Given the description of an element on the screen output the (x, y) to click on. 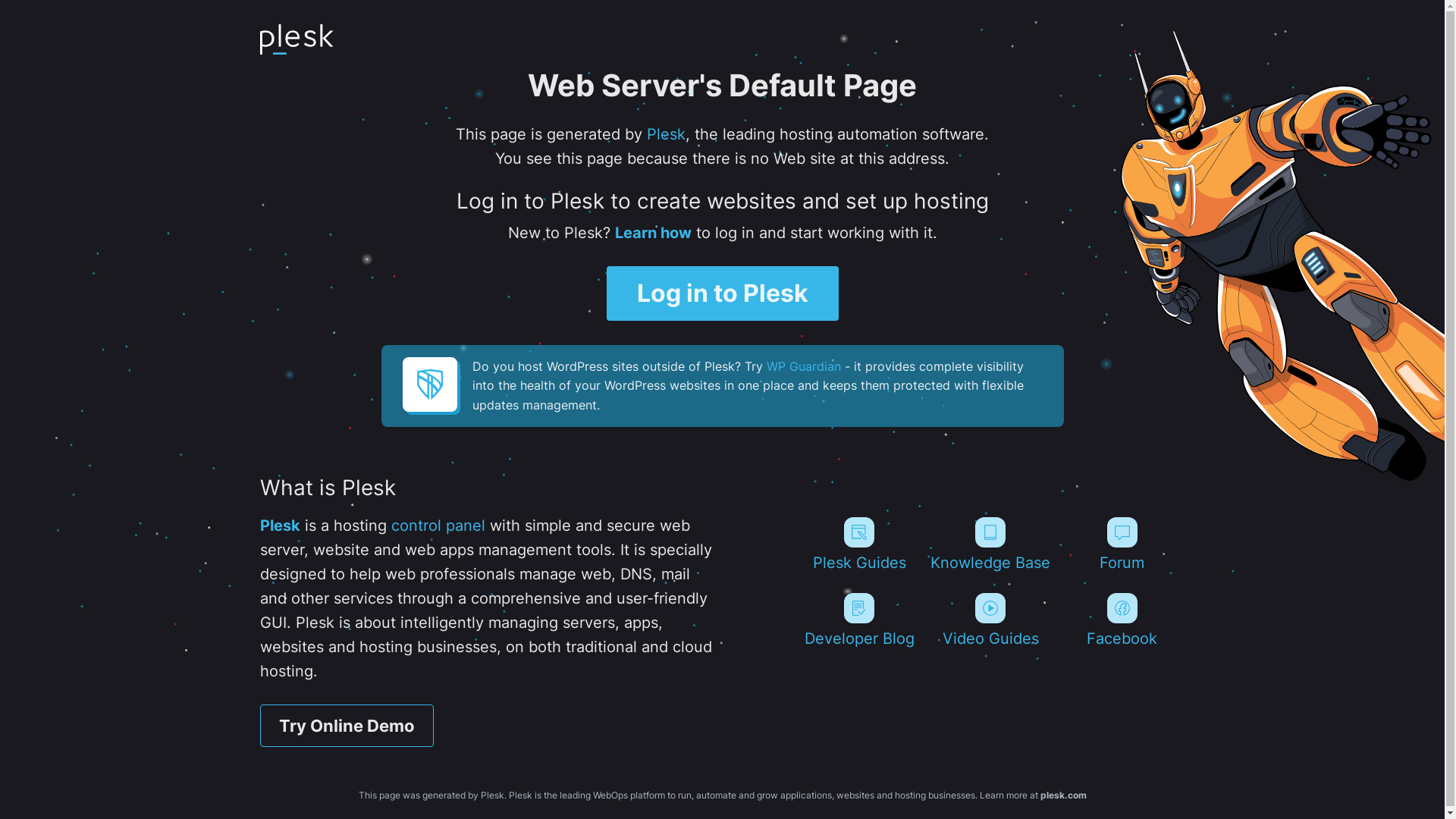
Plesk Guides Element type: text (858, 544)
WP Guardian Element type: text (802, 365)
Plesk Element type: text (279, 525)
Forum Element type: text (1121, 544)
Log in to Plesk Element type: text (722, 293)
Plesk Element type: text (665, 134)
Knowledge Base Element type: text (990, 544)
Video Guides Element type: text (990, 620)
Learn how Element type: text (652, 232)
Developer Blog Element type: text (858, 620)
control panel Element type: text (438, 525)
Facebook Element type: text (1121, 620)
plesk.com Element type: text (1063, 794)
Try Online Demo Element type: text (346, 725)
